Given the description of an element on the screen output the (x, y) to click on. 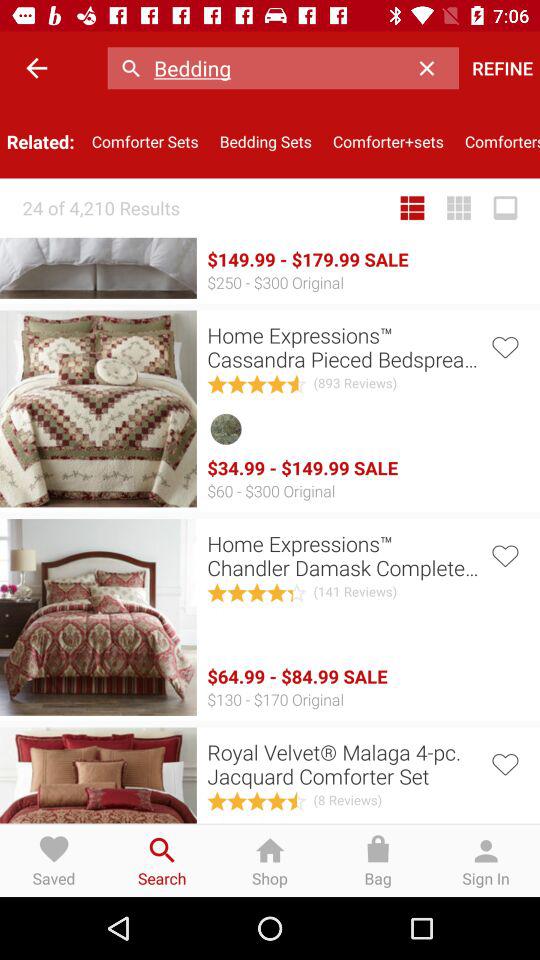
open the icon to the left of the refine (432, 67)
